Given the description of an element on the screen output the (x, y) to click on. 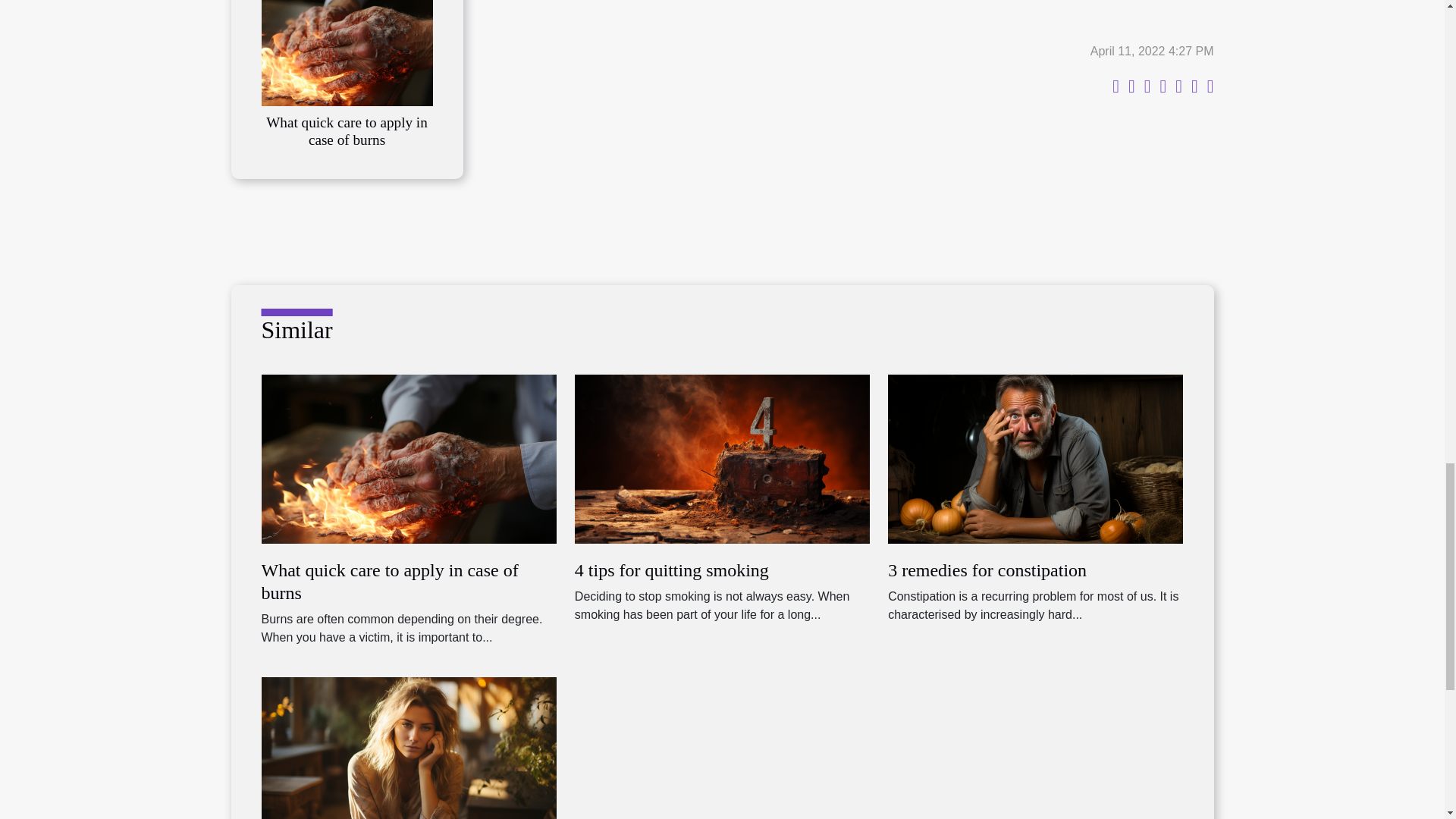
What quick care to apply in case of burns (347, 131)
3 remedies for constipation (987, 569)
What quick care to apply in case of burns (347, 131)
What quick care to apply in case of burns (346, 29)
What quick care to apply in case of burns (408, 458)
4 tips for quitting smoking (671, 569)
4 tips for quitting smoking (722, 458)
What quick care to apply in case of burns (389, 581)
3 ideas for maintaining your mental health (408, 760)
4 tips for quitting smoking (671, 569)
